Given the description of an element on the screen output the (x, y) to click on. 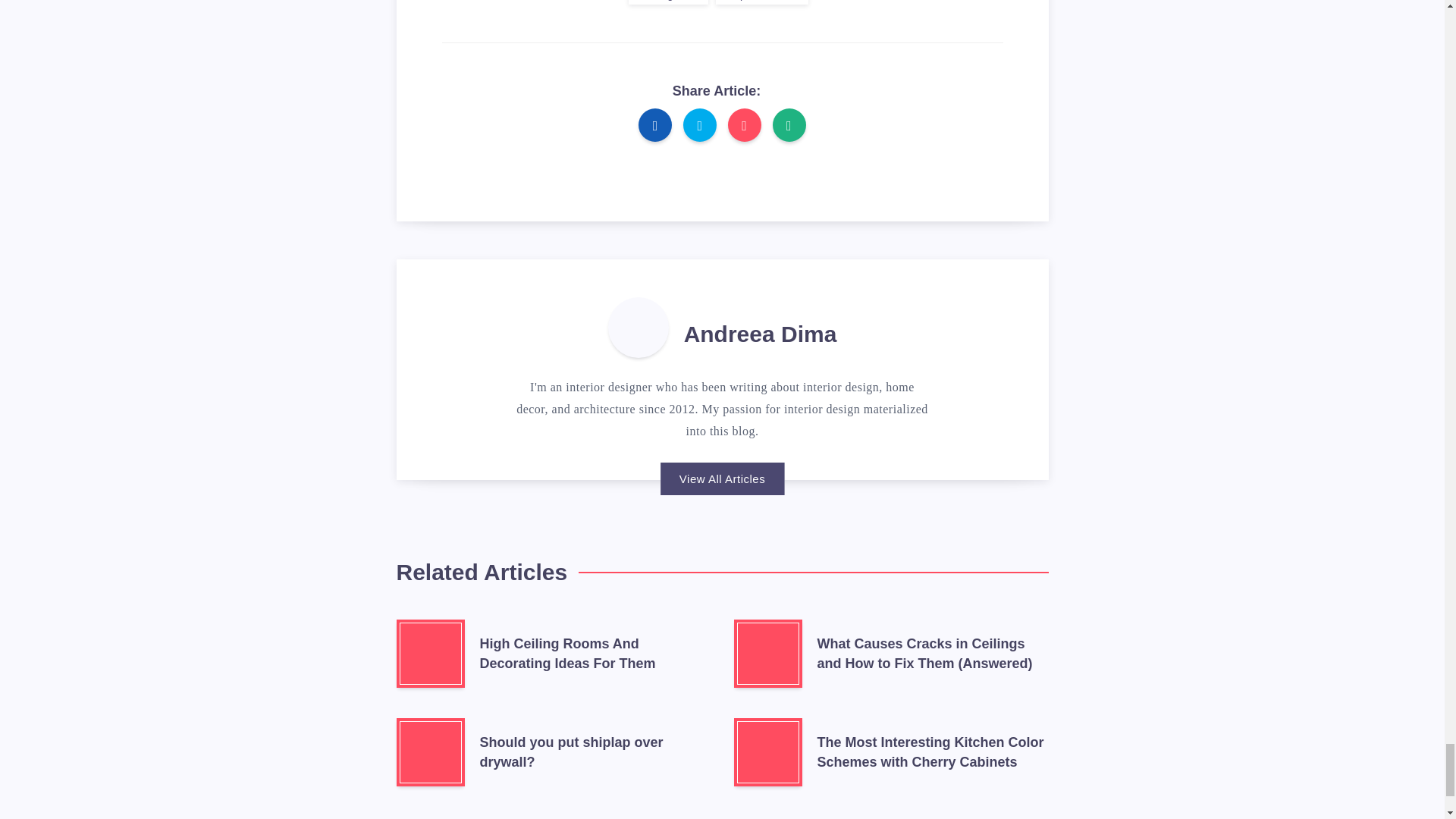
Author: Andreea Dima (638, 327)
